Given the description of an element on the screen output the (x, y) to click on. 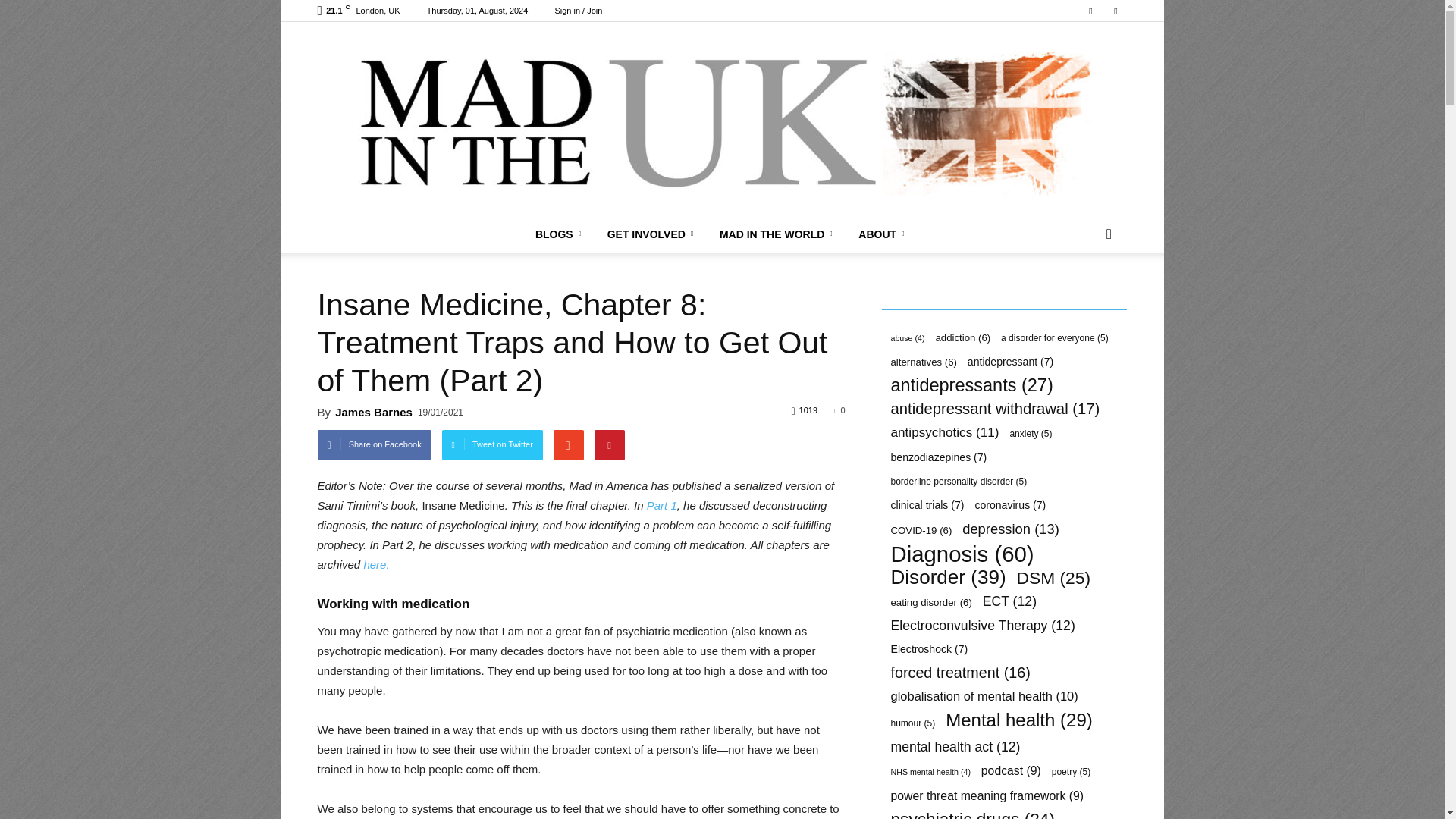
Facebook (1090, 10)
Twitter (1114, 10)
Posts by James Barnes (373, 411)
